Given the description of an element on the screen output the (x, y) to click on. 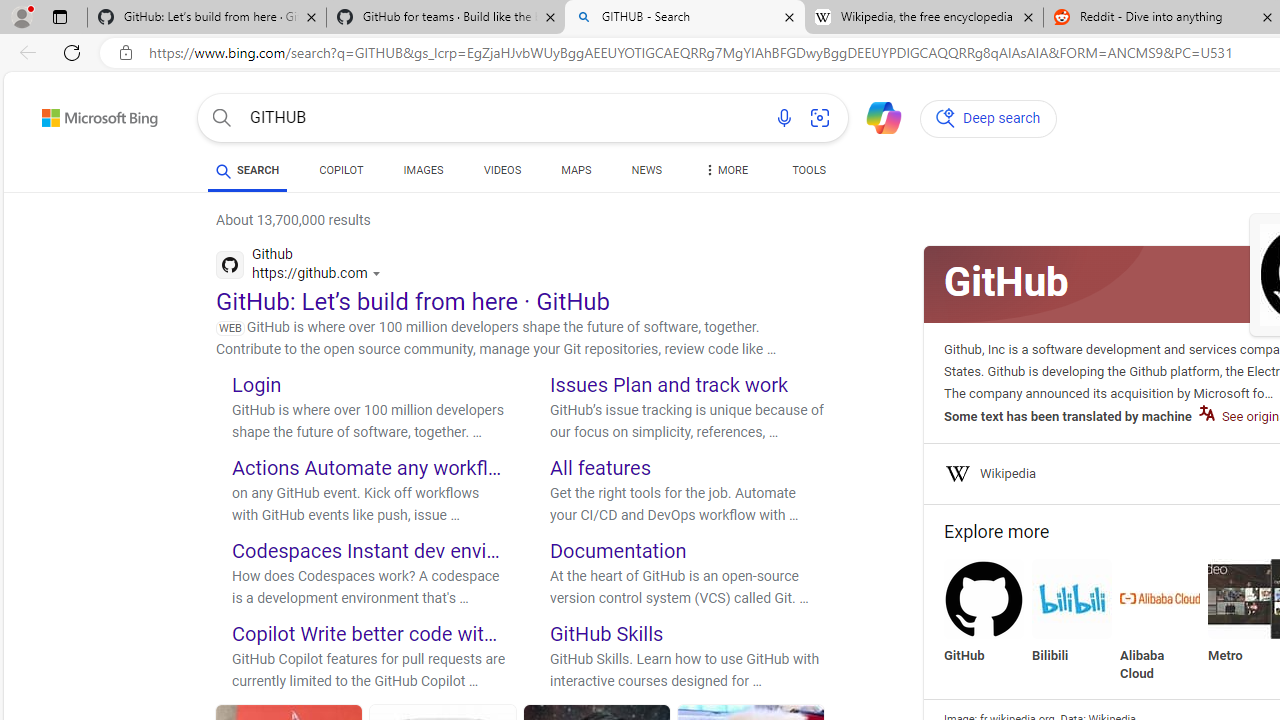
Wikipedia (1007, 474)
Github (303, 267)
GitHub (984, 611)
Chat (875, 116)
Bilibili (1071, 598)
Search using an image (820, 117)
Back to Bing search (87, 113)
SEARCH (247, 170)
Search using voice (783, 117)
